Given the description of an element on the screen output the (x, y) to click on. 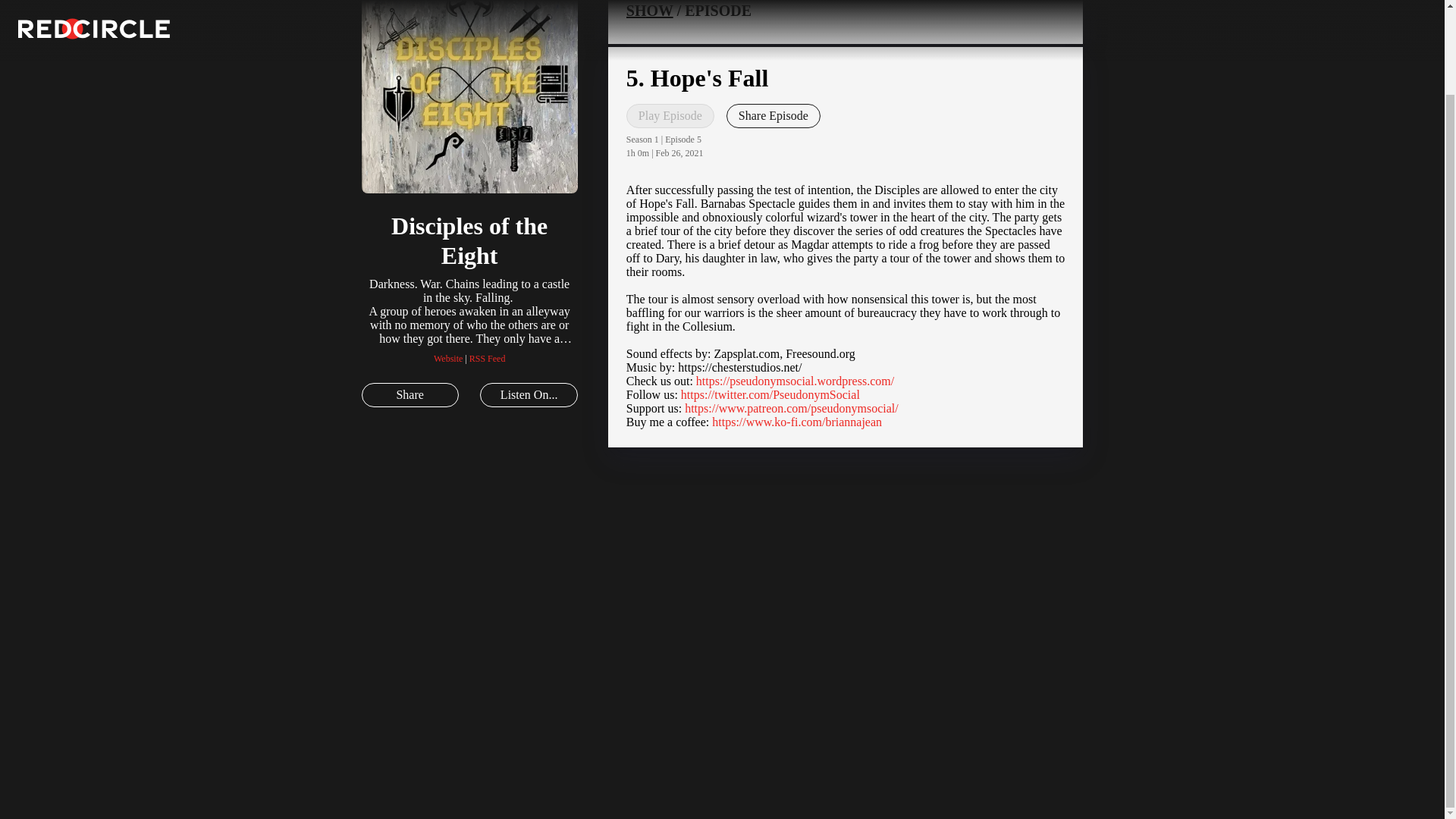
SHOW (649, 10)
Listen On... (528, 395)
Play Episode (670, 115)
RSS Feed (486, 357)
Share (409, 395)
Website (448, 357)
Share Episode (773, 115)
